Given the description of an element on the screen output the (x, y) to click on. 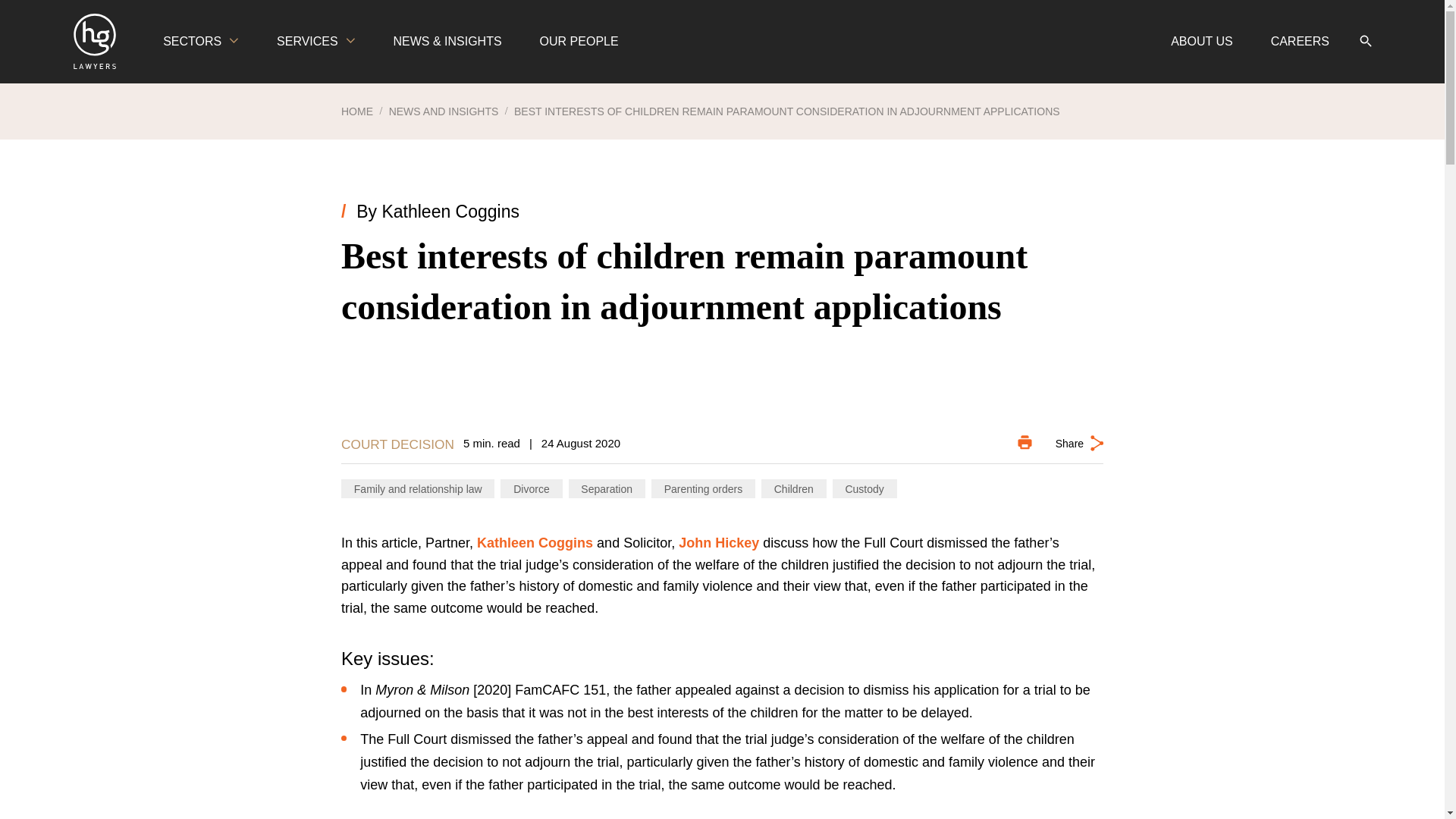
SERVICES (315, 41)
CAREERS (1299, 41)
ABOUT US (1201, 41)
SECTORS (200, 41)
OUR PEOPLE (579, 41)
